Given the description of an element on the screen output the (x, y) to click on. 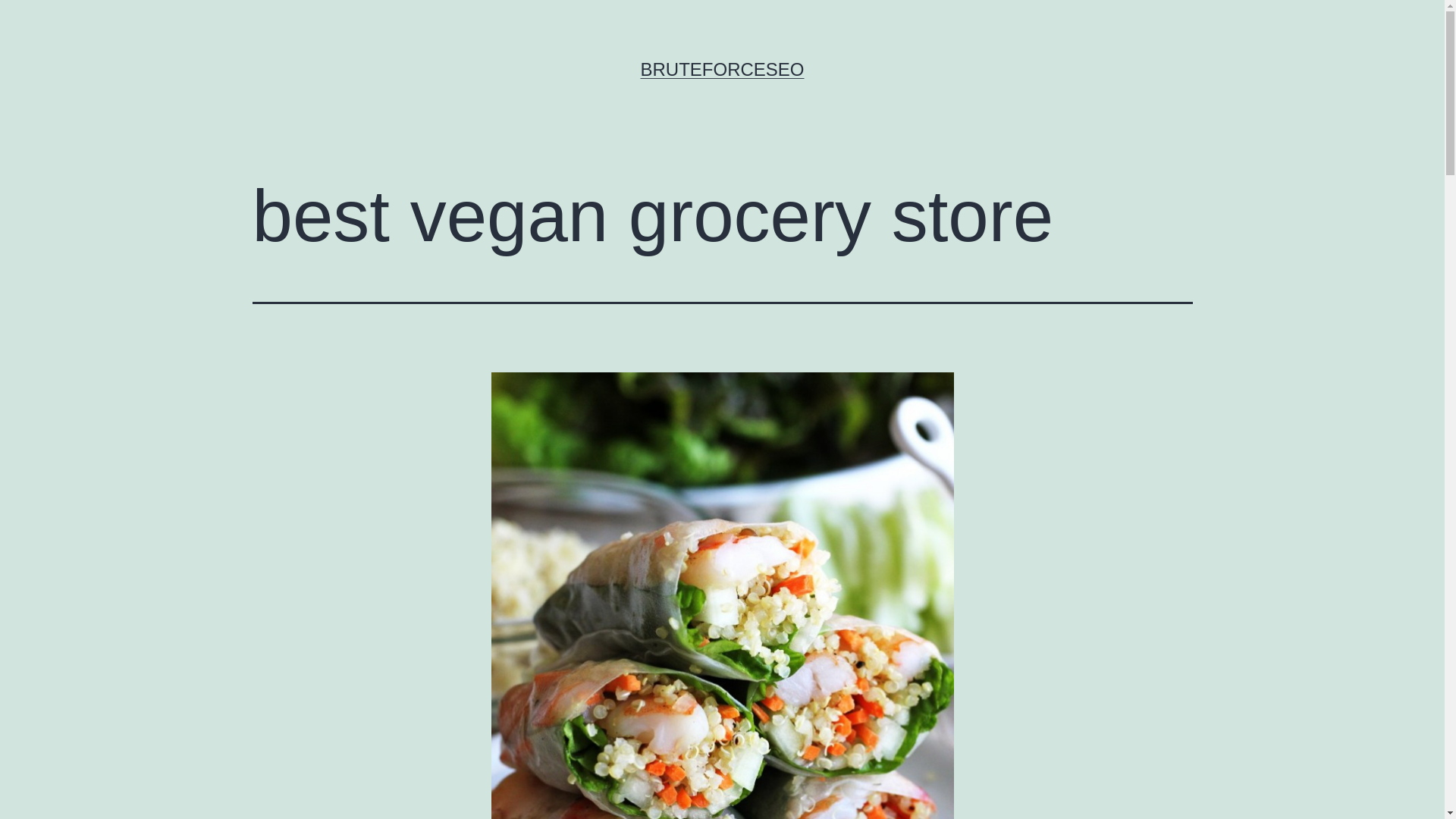
BRUTEFORCESEO (721, 68)
